Given the description of an element on the screen output the (x, y) to click on. 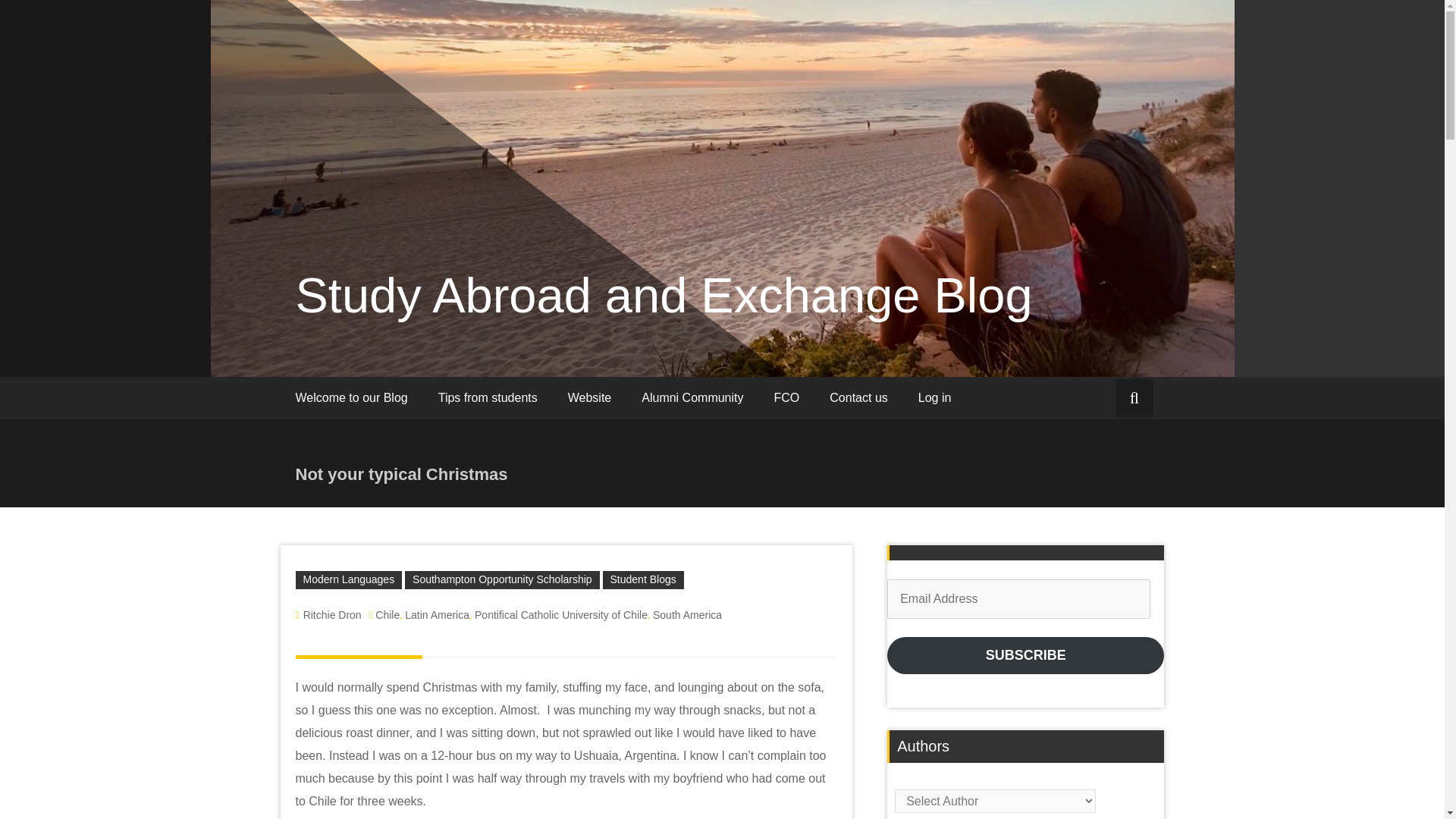
FCO (786, 397)
Pontifical Catholic University of Chile (560, 614)
Welcome to our Blog (352, 397)
Ritchie Dron (331, 614)
Latin America (436, 614)
Website (590, 397)
Chile (386, 614)
Southampton Opportunity Scholarship (501, 579)
Study Abroad and Exchange Blog (663, 294)
Log in (934, 397)
SUBSCRIBE (1024, 655)
South America (687, 614)
Tips from students (488, 397)
Student Blogs (643, 579)
Alumni Community (692, 397)
